Given the description of an element on the screen output the (x, y) to click on. 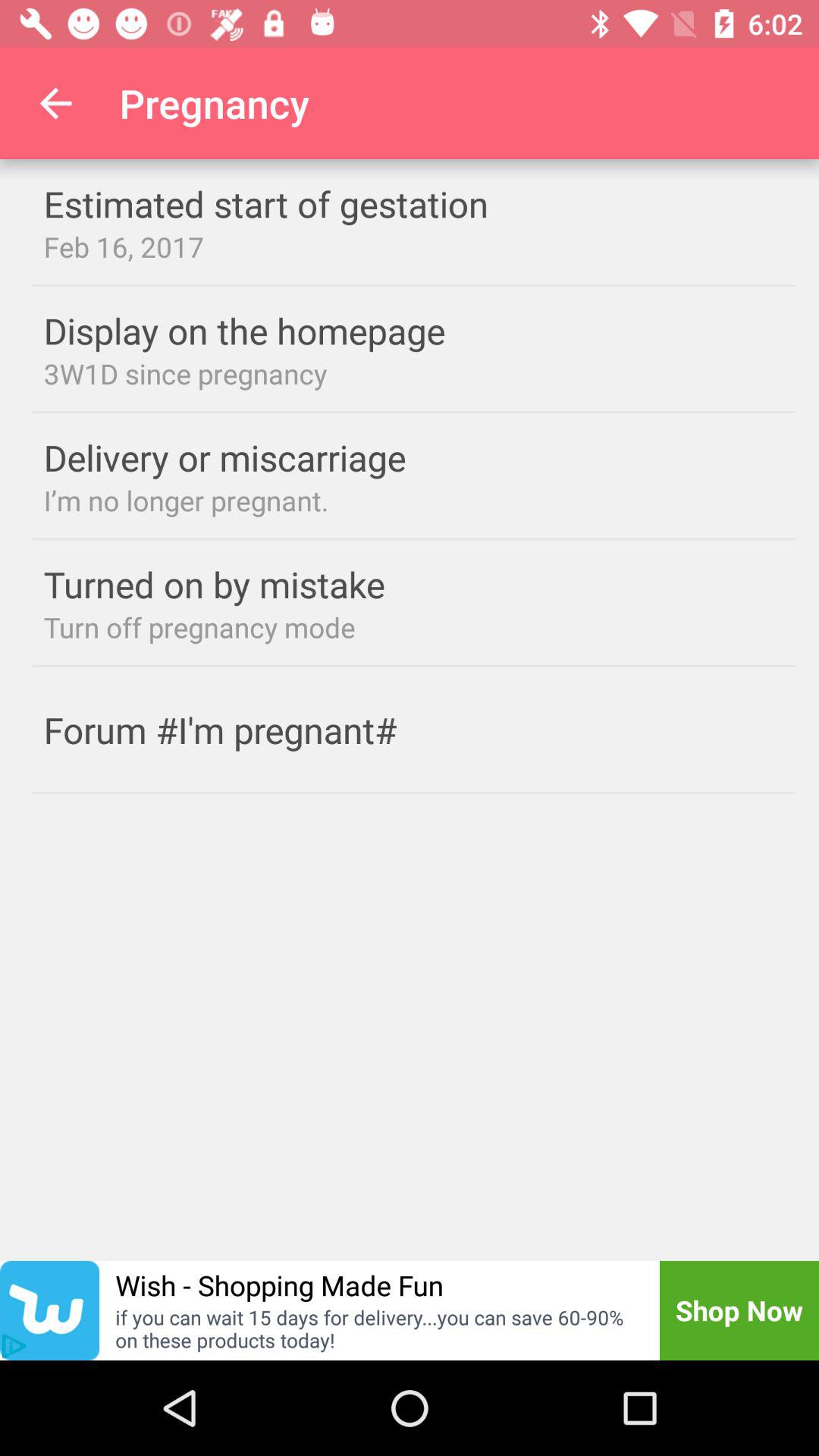
scroll until delivery or miscarriage icon (254, 457)
